Given the description of an element on the screen output the (x, y) to click on. 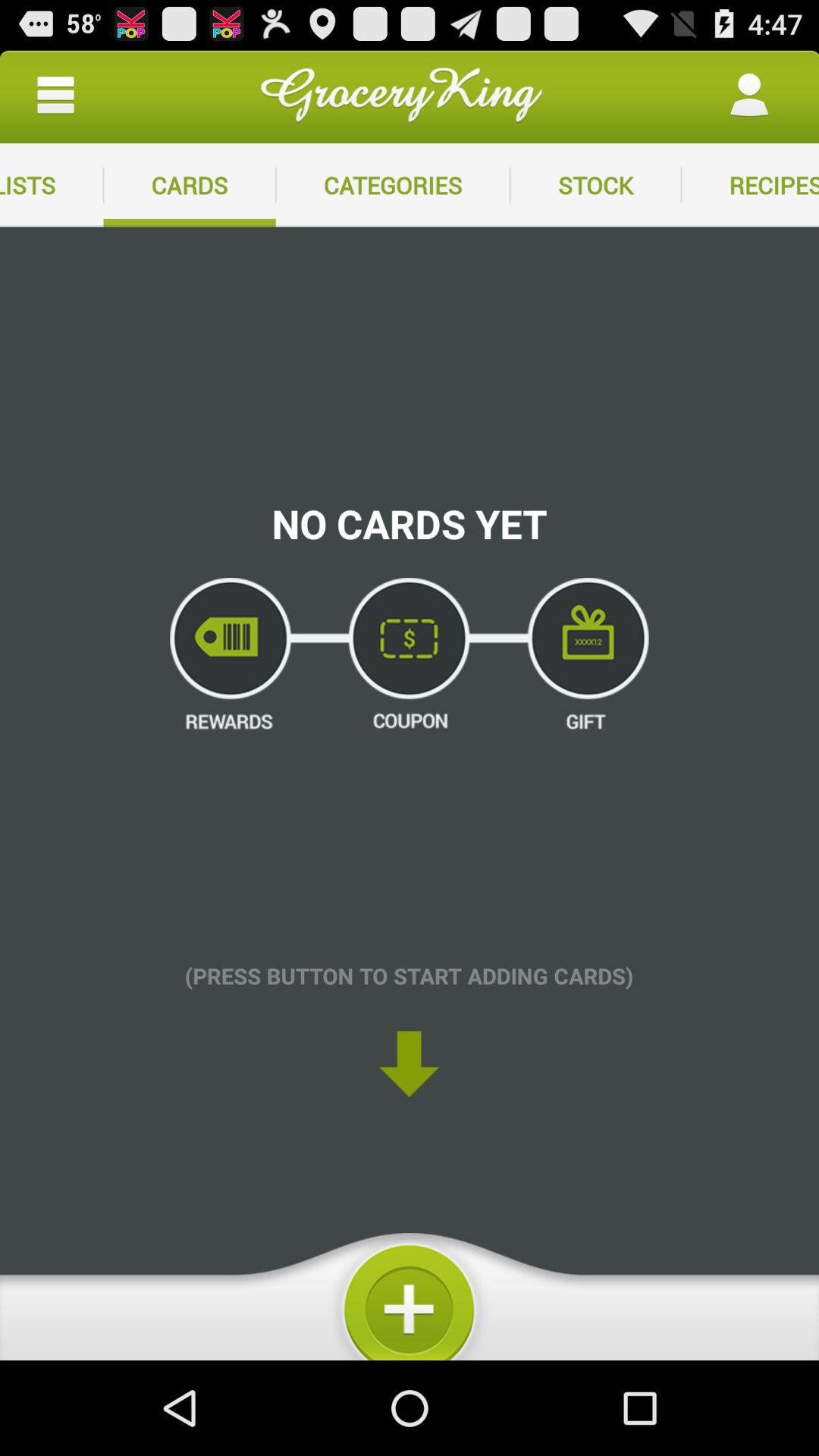
open the recipes icon (750, 184)
